Given the description of an element on the screen output the (x, y) to click on. 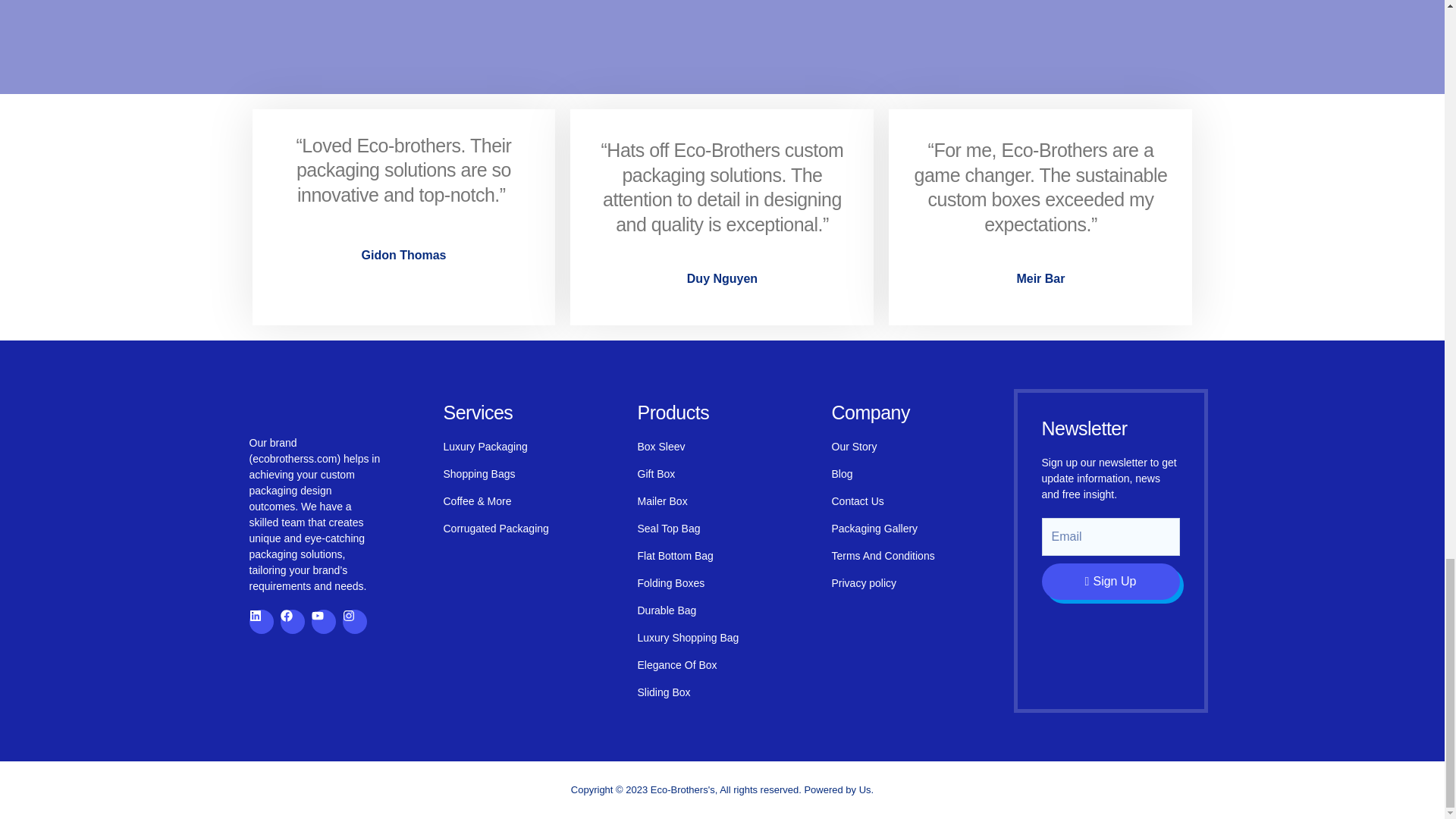
cropped-Eco-Brothers-packaging-services.webp (314, 411)
